Given the description of an element on the screen output the (x, y) to click on. 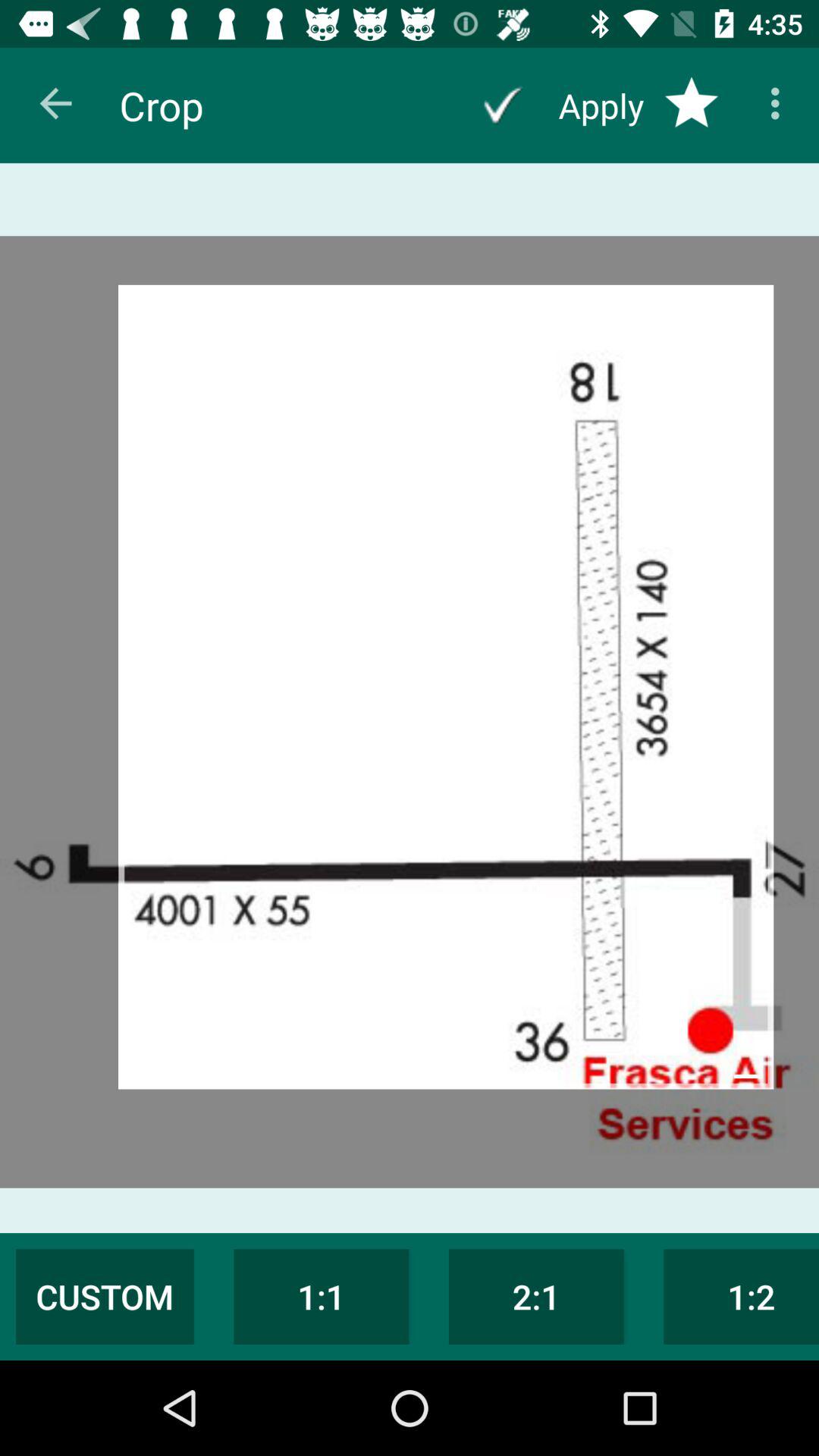
apply changes (502, 105)
